Given the description of an element on the screen output the (x, y) to click on. 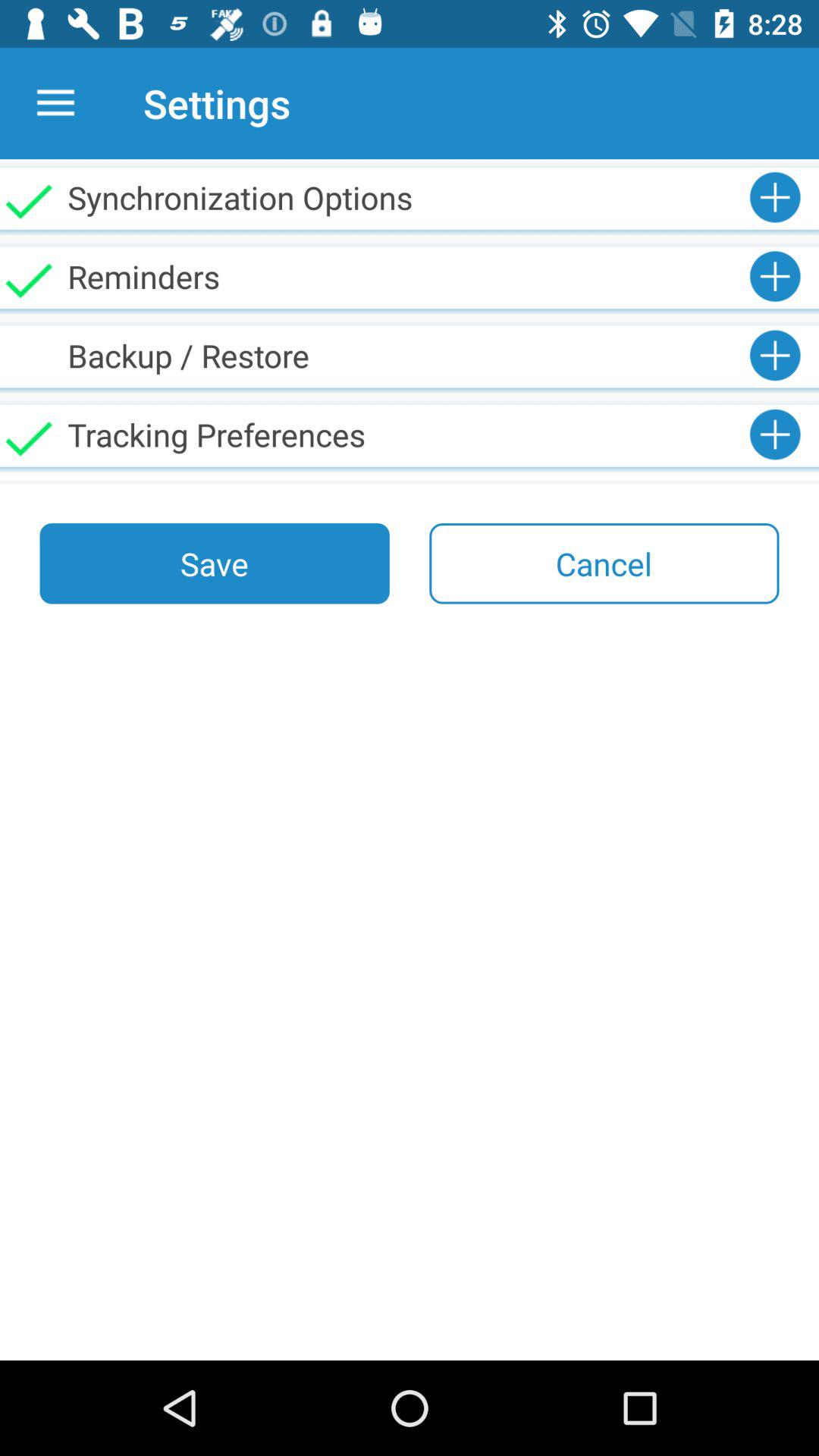
launch the cancel item (604, 563)
